Given the description of an element on the screen output the (x, y) to click on. 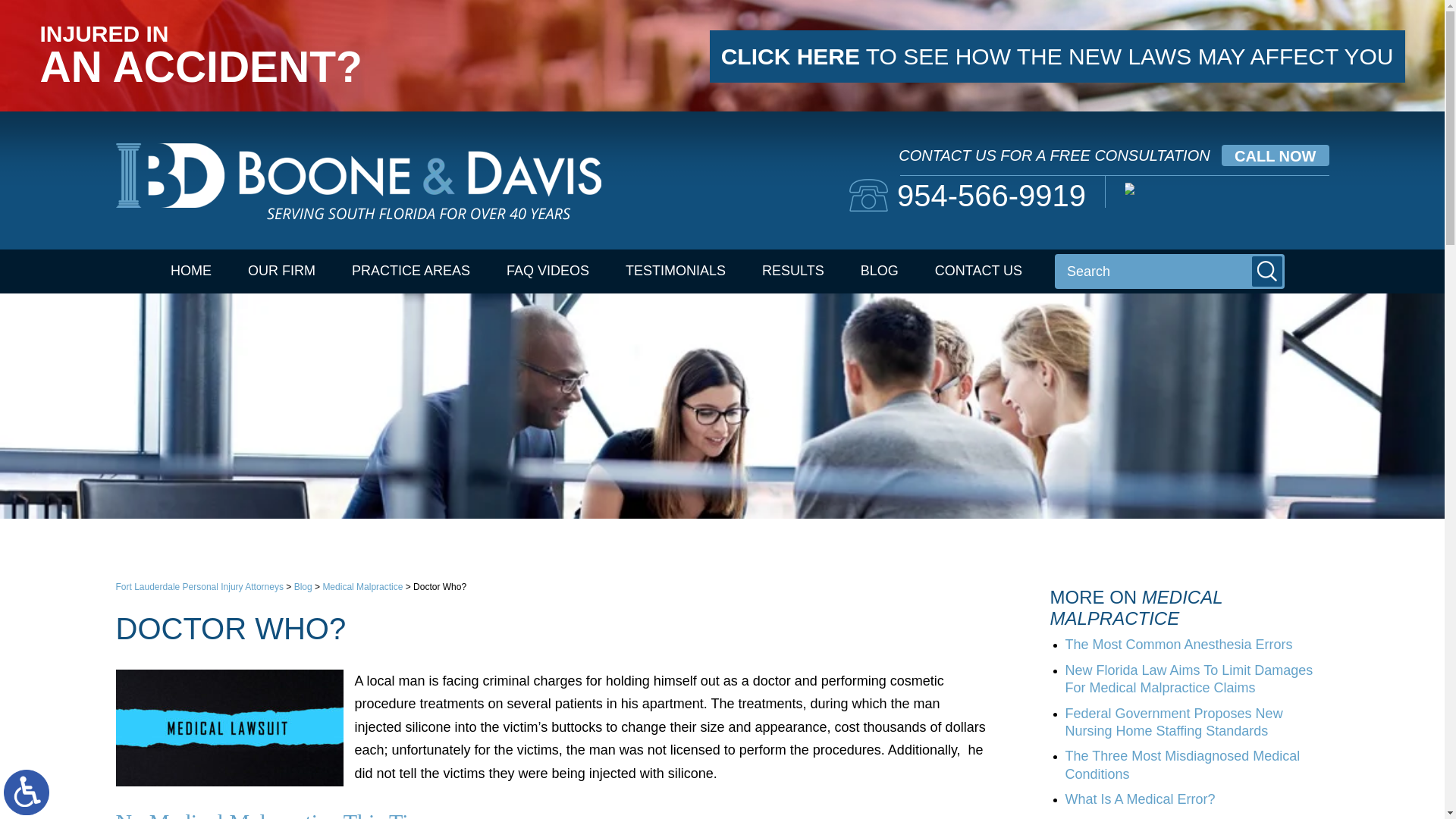
CALL NOW (1274, 155)
Submit (1267, 271)
HOME (191, 271)
Switch to ADA Accessible Theme (26, 791)
PRACTICE AREAS (410, 271)
OUR FIRM (281, 271)
954-566-9919 (967, 195)
CLICK HERE TO SEE HOW THE NEW LAWS MAY AFFECT YOU (1057, 56)
